Given the description of an element on the screen output the (x, y) to click on. 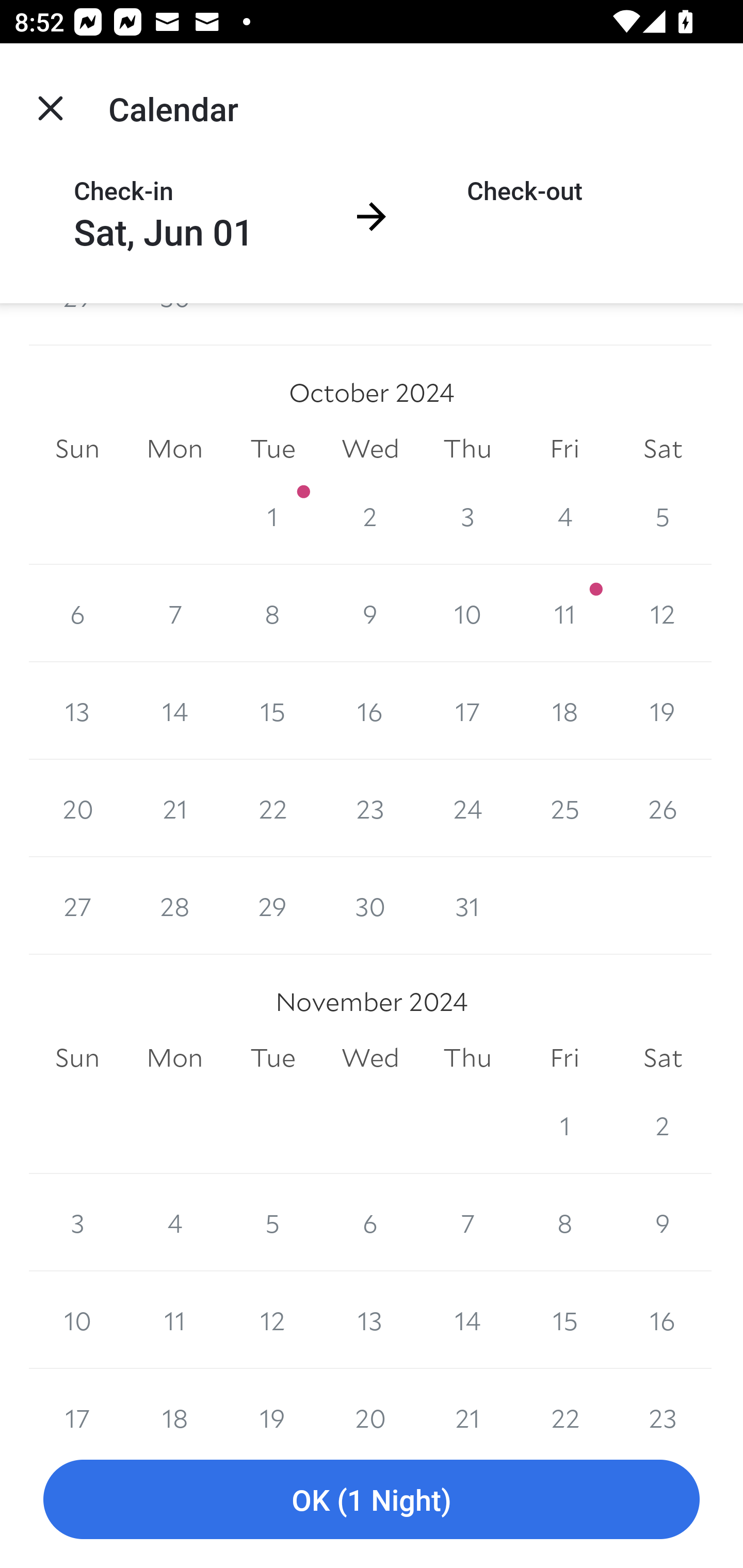
Sun (77, 448)
Mon (174, 448)
Tue (272, 448)
Wed (370, 448)
Thu (467, 448)
Fri (564, 448)
Sat (662, 448)
1 1 October 2024 (272, 515)
2 2 October 2024 (370, 515)
3 3 October 2024 (467, 515)
4 4 October 2024 (564, 515)
5 5 October 2024 (662, 515)
6 6 October 2024 (77, 612)
7 7 October 2024 (174, 612)
8 8 October 2024 (272, 612)
9 9 October 2024 (370, 612)
10 10 October 2024 (467, 612)
11 11 October 2024 (564, 612)
12 12 October 2024 (662, 612)
13 13 October 2024 (77, 710)
14 14 October 2024 (174, 710)
15 15 October 2024 (272, 710)
16 16 October 2024 (370, 710)
17 17 October 2024 (467, 710)
18 18 October 2024 (564, 710)
19 19 October 2024 (662, 710)
20 20 October 2024 (77, 808)
21 21 October 2024 (174, 808)
22 22 October 2024 (272, 808)
23 23 October 2024 (370, 808)
24 24 October 2024 (467, 808)
25 25 October 2024 (564, 808)
26 26 October 2024 (662, 808)
27 27 October 2024 (77, 905)
28 28 October 2024 (174, 905)
29 29 October 2024 (272, 905)
30 30 October 2024 (370, 905)
31 31 October 2024 (467, 905)
Sun (77, 1058)
Mon (174, 1058)
Tue (272, 1058)
Wed (370, 1058)
Thu (467, 1058)
Fri (564, 1058)
Sat (662, 1058)
1 1 November 2024 (564, 1125)
2 2 November 2024 (662, 1125)
3 3 November 2024 (77, 1222)
4 4 November 2024 (174, 1222)
5 5 November 2024 (272, 1222)
6 6 November 2024 (370, 1222)
7 7 November 2024 (467, 1222)
8 8 November 2024 (564, 1222)
9 9 November 2024 (662, 1222)
10 10 November 2024 (77, 1319)
11 11 November 2024 (174, 1319)
12 12 November 2024 (272, 1319)
13 13 November 2024 (370, 1319)
14 14 November 2024 (467, 1319)
15 15 November 2024 (564, 1319)
16 16 November 2024 (662, 1319)
17 17 November 2024 (77, 1399)
18 18 November 2024 (174, 1399)
19 19 November 2024 (272, 1399)
20 20 November 2024 (370, 1399)
21 21 November 2024 (467, 1399)
22 22 November 2024 (564, 1399)
23 23 November 2024 (662, 1399)
OK (1 Night) (371, 1499)
